Given the description of an element on the screen output the (x, y) to click on. 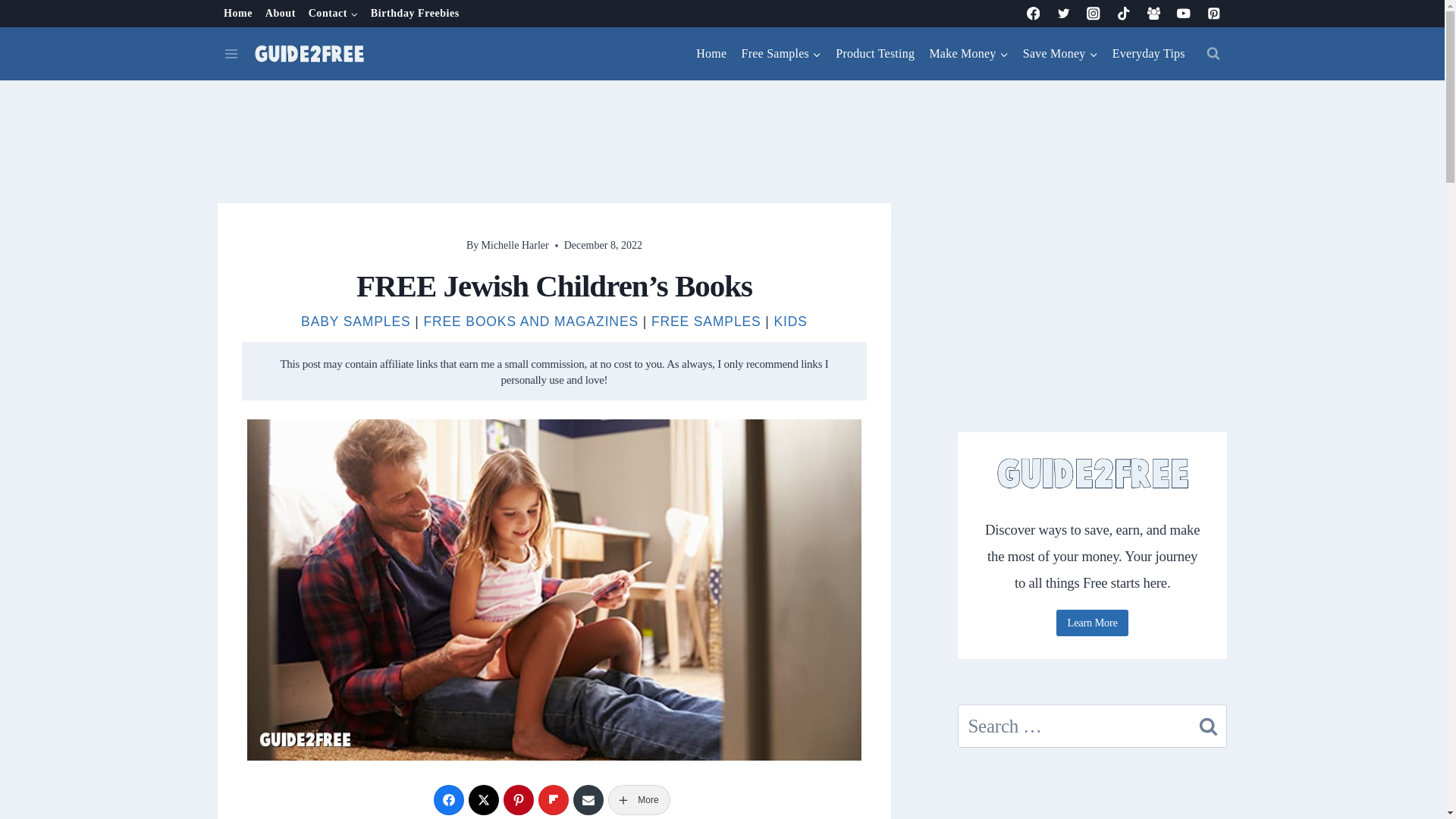
Home (237, 13)
About (280, 13)
Contact (332, 13)
Free Samples (780, 54)
Birthday Freebies (414, 13)
Home (710, 54)
